Given the description of an element on the screen output the (x, y) to click on. 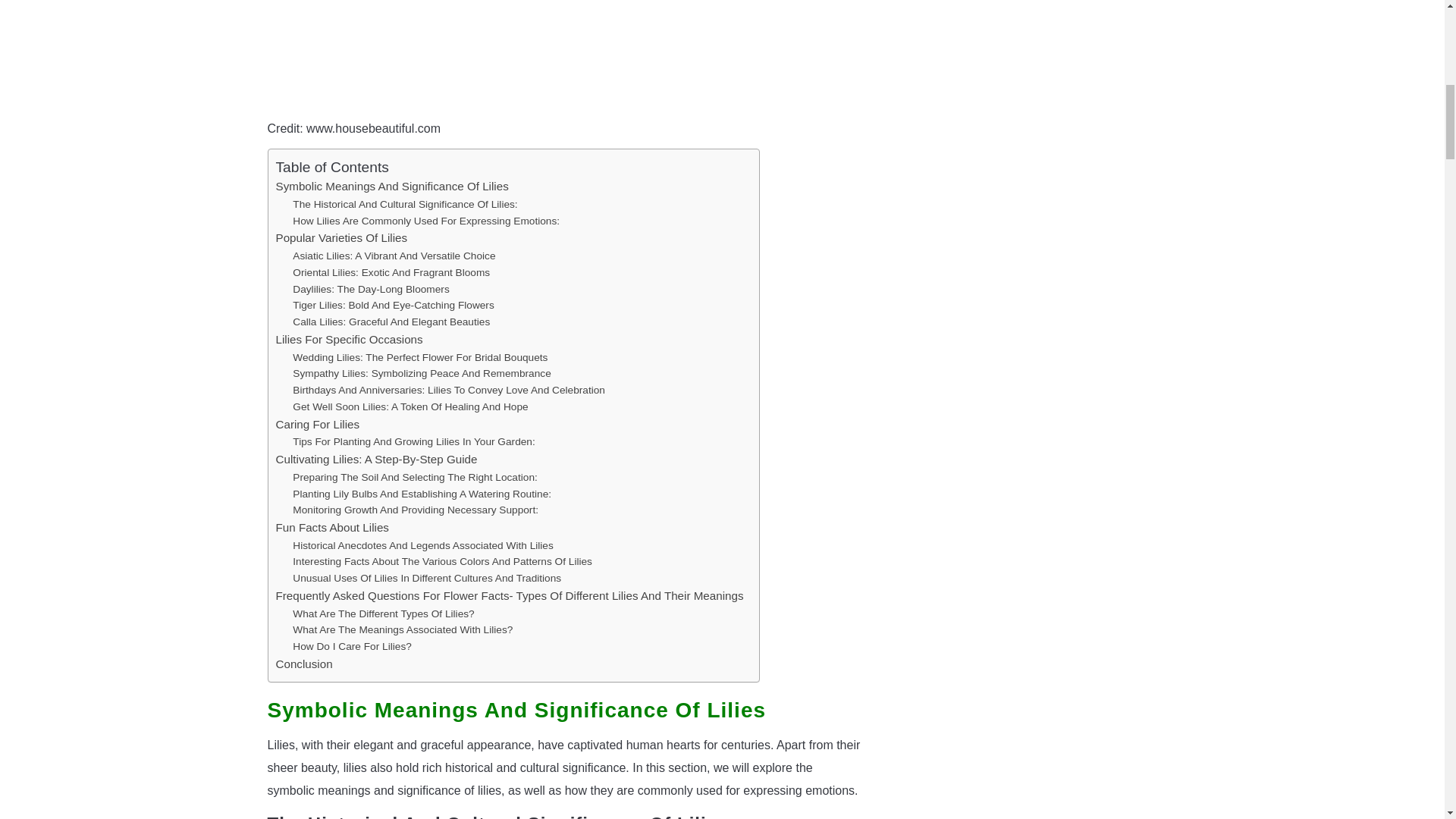
How Lilies Are Commonly Used For Expressing Emotions: (425, 221)
Daylilies: The Day-Long Bloomers (370, 289)
Wedding Lilies: The Perfect Flower For Bridal Bouquets (419, 357)
Daylilies: The Day-Long Bloomers (370, 289)
Symbolic Meanings And Significance Of Lilies (392, 186)
Monitoring Growth And Providing Necessary Support: (415, 510)
Tiger Lilies: Bold And Eye-Catching Flowers (392, 305)
Get Well Soon Lilies: A Token Of Healing And Hope (409, 406)
Cultivating Lilies: A Step-By-Step Guide (376, 459)
Calla Lilies: Graceful And Elegant Beauties (390, 321)
